Given the description of an element on the screen output the (x, y) to click on. 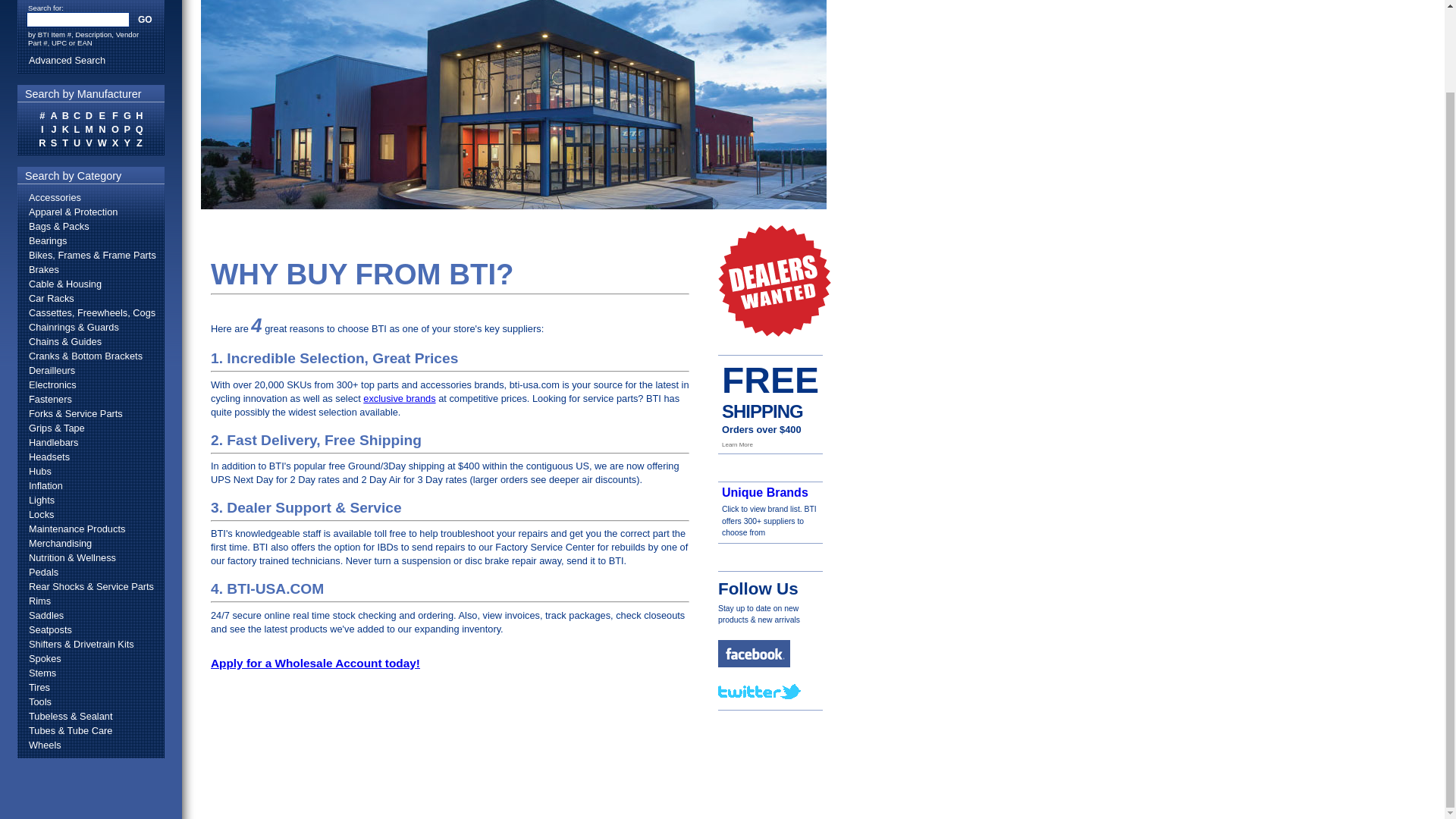
M (89, 128)
Accessories (90, 197)
GO (144, 19)
G (126, 115)
Advanced Search (90, 60)
Brakes (90, 269)
GO (144, 19)
W (102, 142)
Bearings (90, 240)
Q (139, 128)
